Given the description of an element on the screen output the (x, y) to click on. 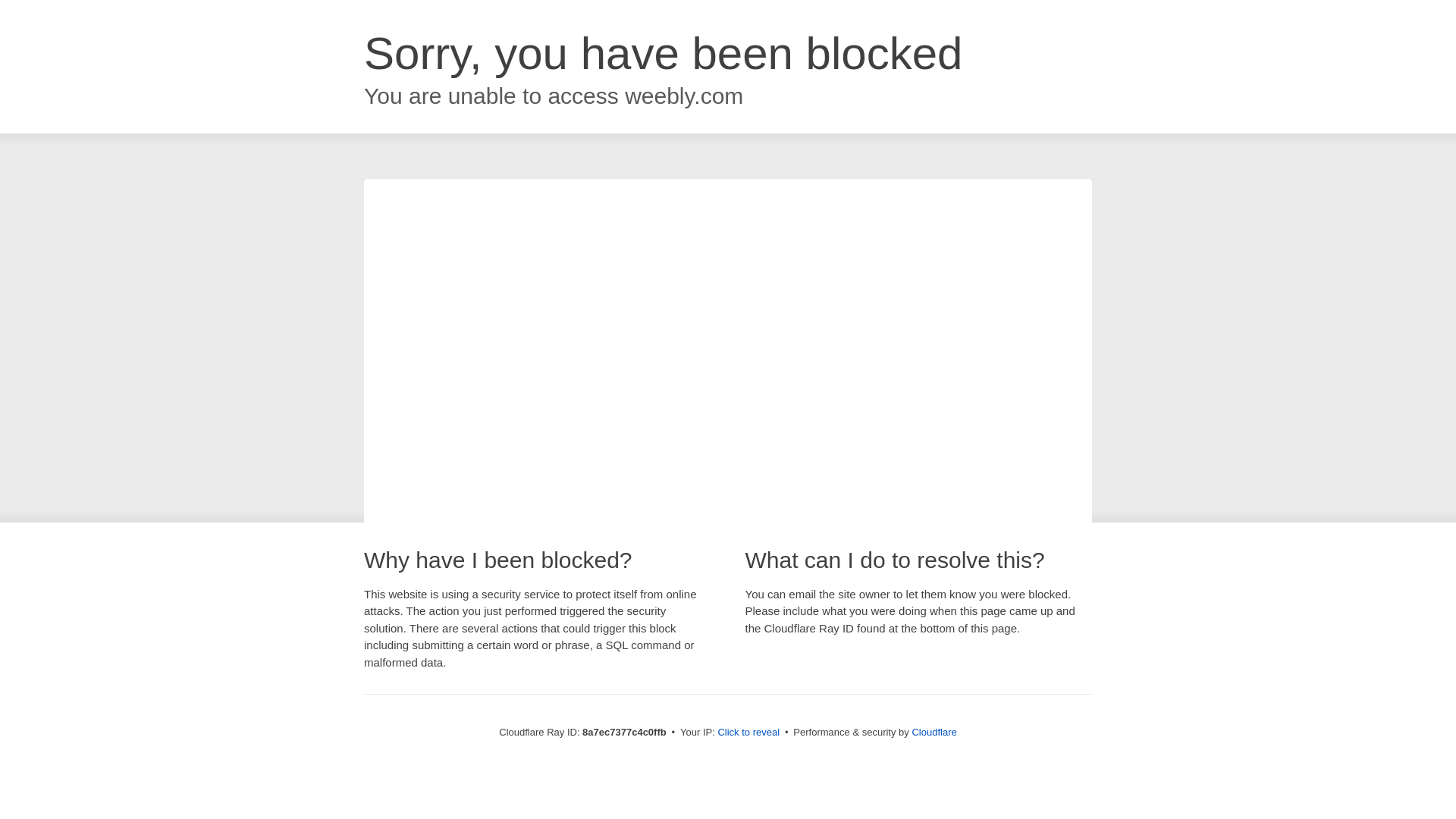
Cloudflare (933, 731)
Click to reveal (747, 732)
